Given the description of an element on the screen output the (x, y) to click on. 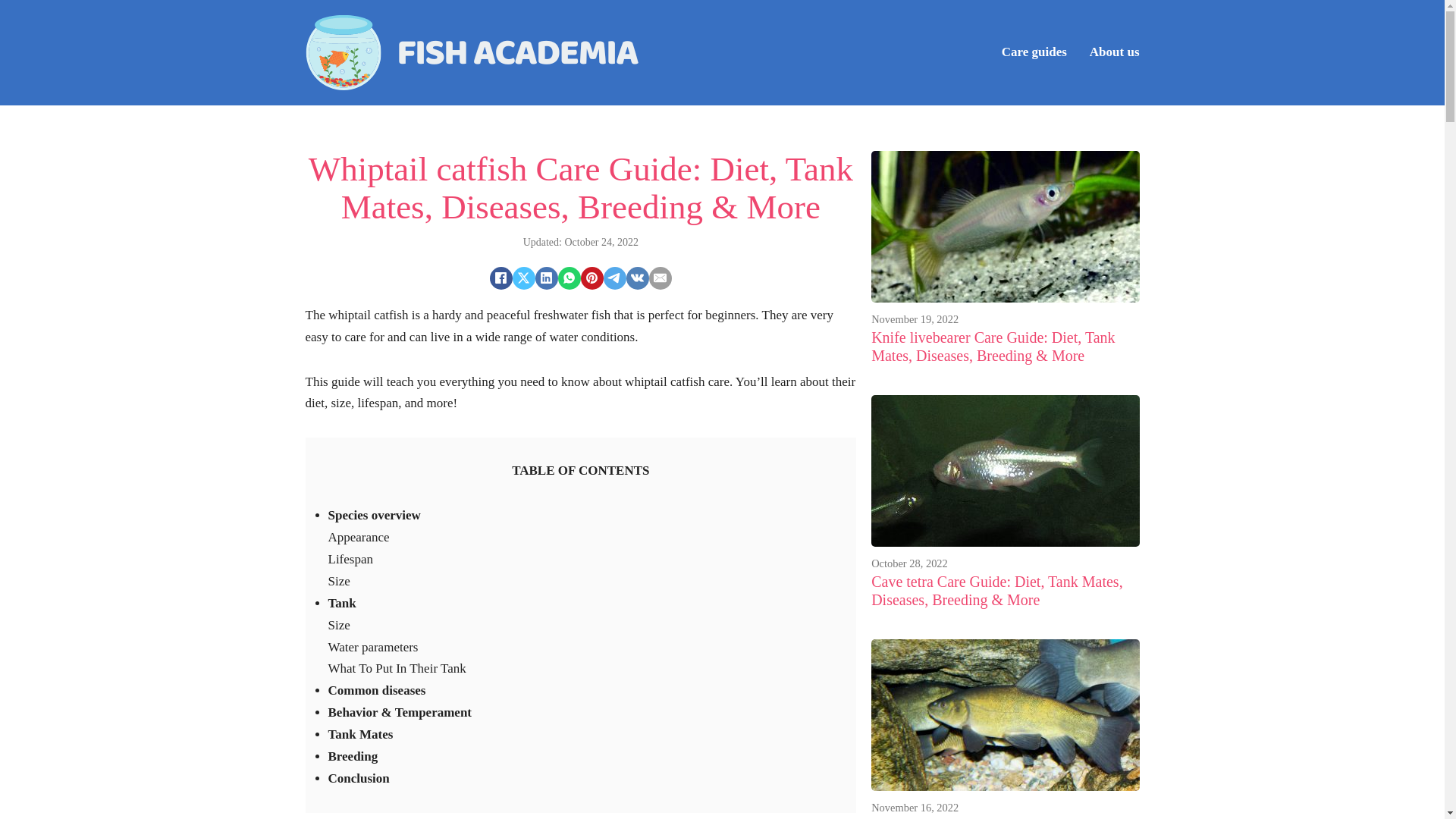
Lifespan (349, 559)
Breeding (352, 756)
Water parameters (372, 646)
Appearance (357, 536)
Size (338, 581)
Common diseases (376, 690)
Care guides (1034, 52)
What To Put In Their Tank (396, 667)
About us (1114, 52)
Size (338, 625)
